Given the description of an element on the screen output the (x, y) to click on. 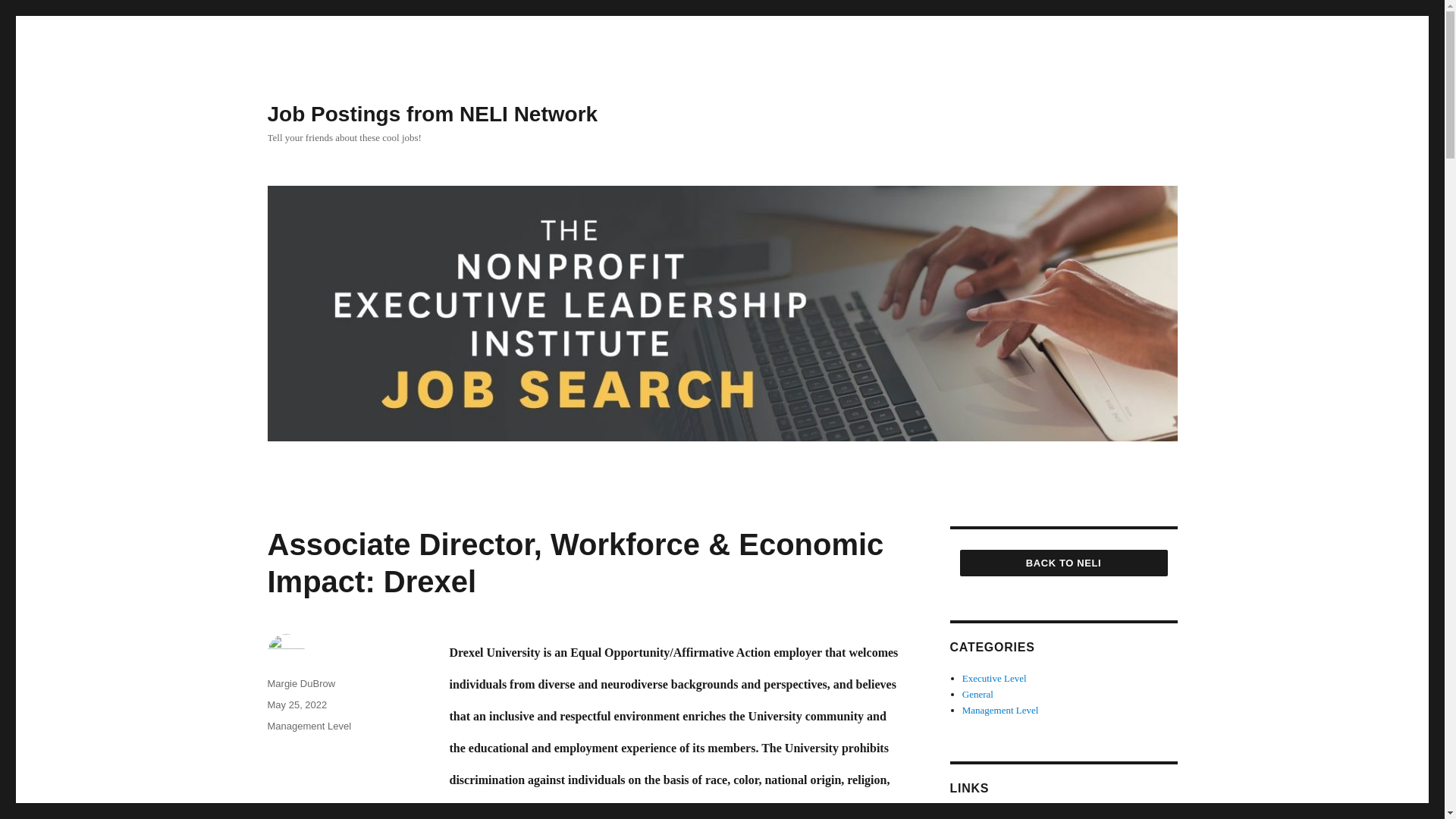
May 25, 2022 (296, 704)
Job Postings from NELI Network (431, 114)
Management Level (1000, 709)
Management Level (308, 726)
General (977, 694)
Idealist.org (984, 816)
Margie DuBrow (300, 683)
Executive Level (994, 677)
Back To NELI (1063, 562)
